Given the description of an element on the screen output the (x, y) to click on. 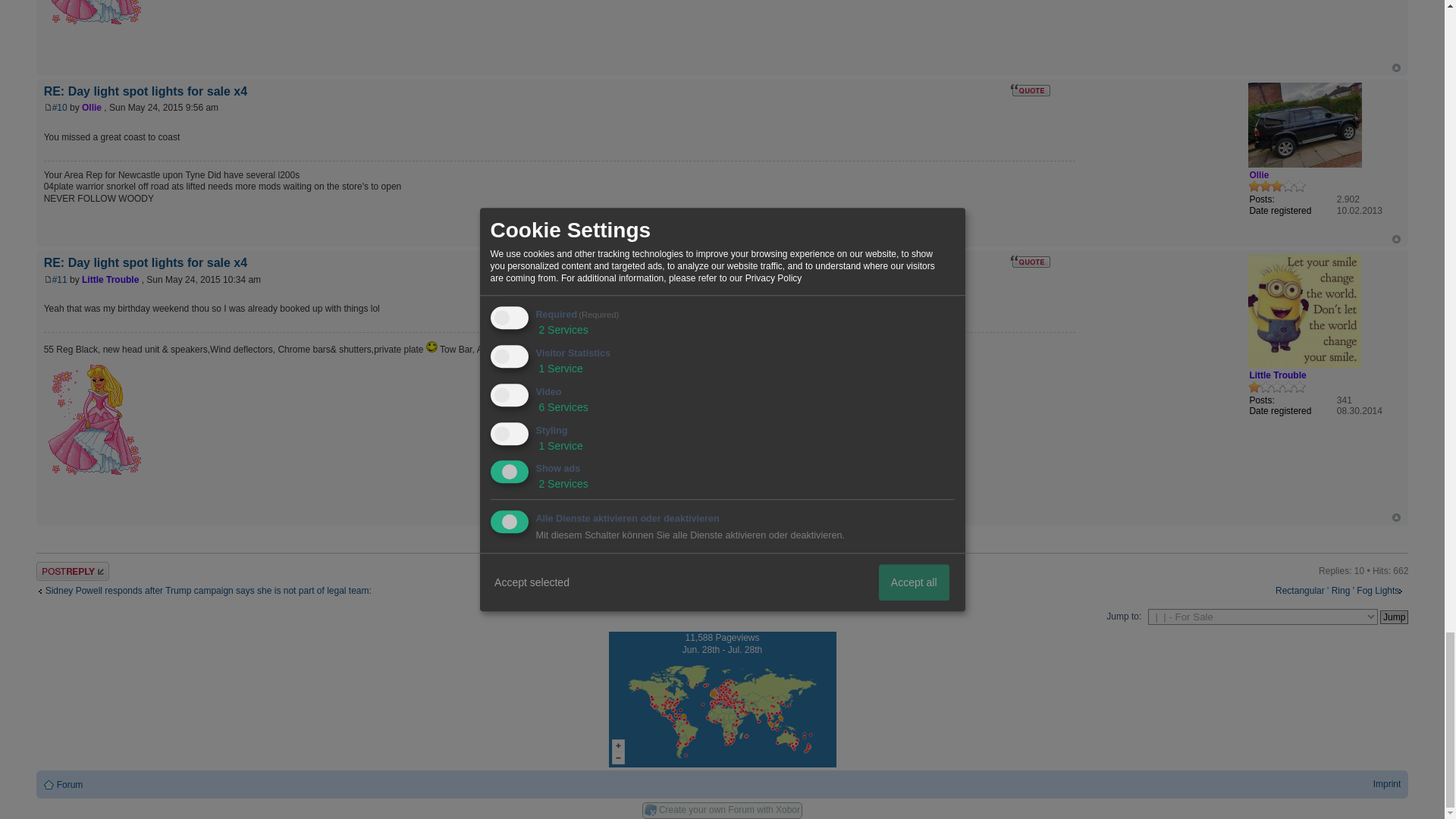
Jump (1393, 617)
